Given the description of an element on the screen output the (x, y) to click on. 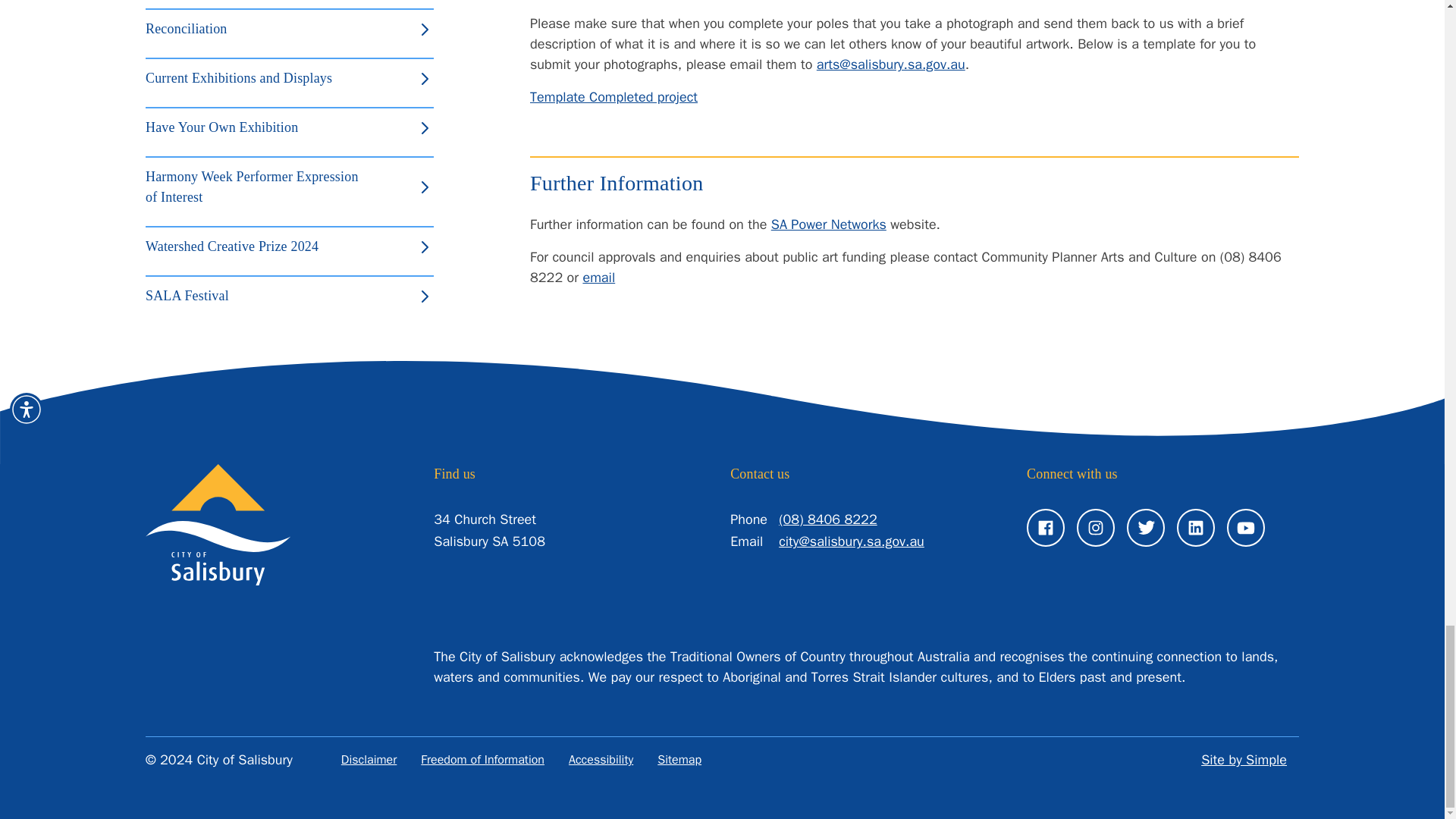
Cos poles apart completed project (613, 96)
